Given the description of an element on the screen output the (x, y) to click on. 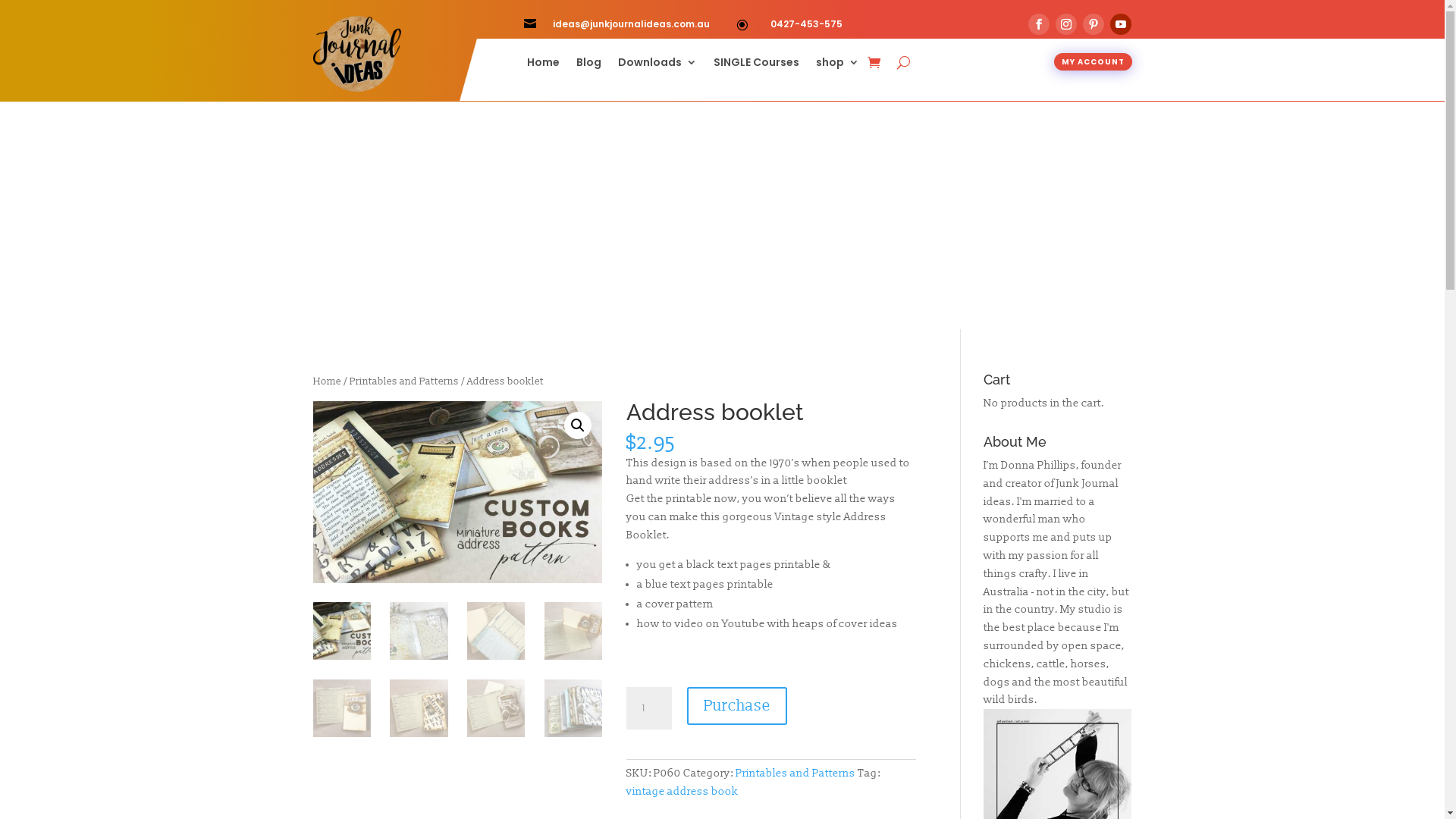
Printables and Patterns Element type: text (403, 381)
Follow on Facebook Element type: hover (1038, 23)
Advertisement Element type: hover (721, 215)
shop Element type: text (837, 64)
Downloads Element type: text (656, 64)
Follow on Instagram Element type: hover (1065, 23)
ideas@junkjournalideas.com.au Element type: text (630, 23)
Follow on Youtube Element type: hover (1120, 23)
Purchase Element type: text (737, 705)
Follow on Pinterest Element type: hover (1093, 23)
MY ACCOUNT Element type: text (1093, 61)
Home Element type: text (326, 381)
0427-453-575 Element type: text (806, 23)
Printables and Patterns Element type: text (795, 772)
Blog Element type: text (588, 64)
SINGLE Courses Element type: text (755, 64)
Home Element type: text (542, 64)
\ Element type: text (746, 24)
vintage address book Element type: text (682, 790)
